Given the description of an element on the screen output the (x, y) to click on. 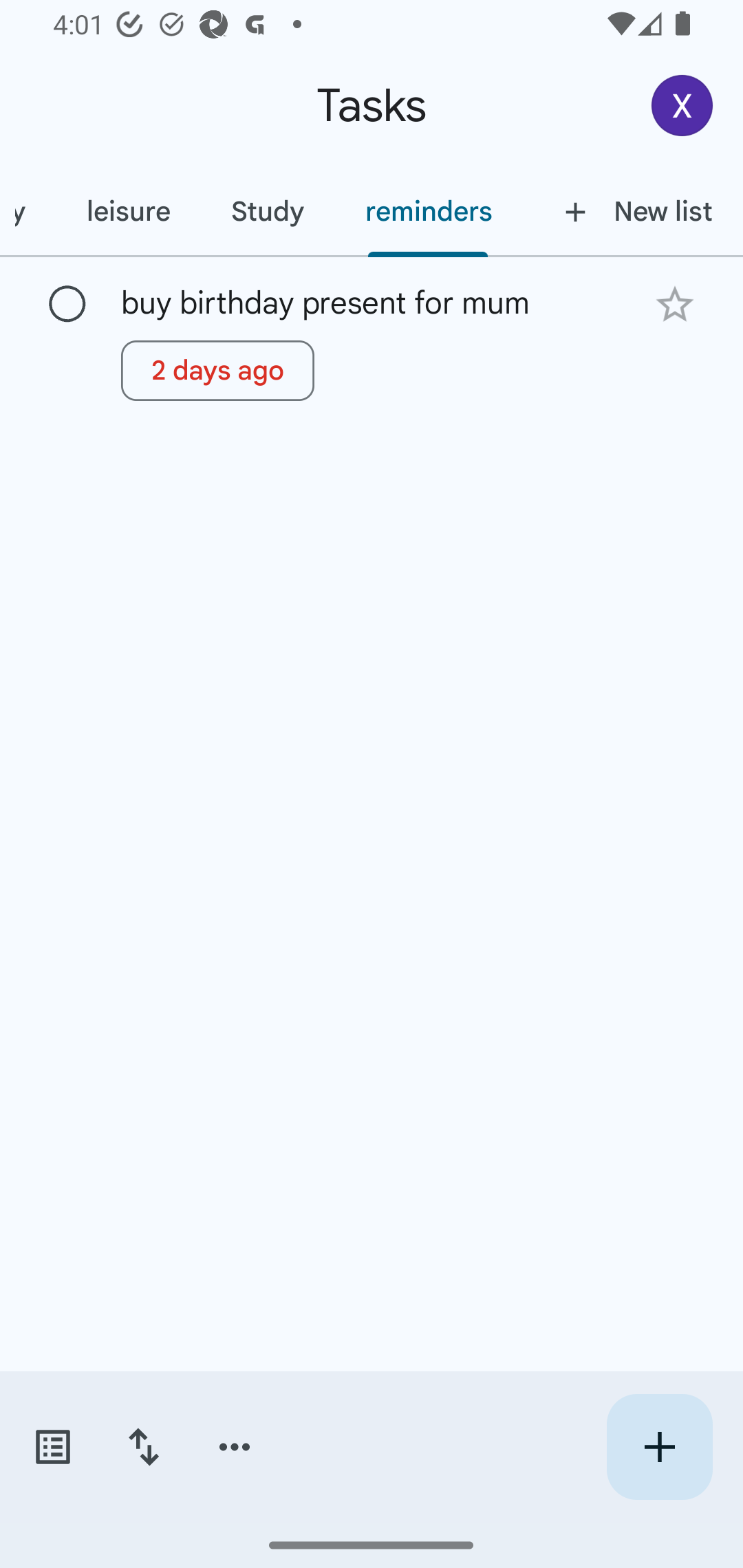
leisure (127, 211)
Study (266, 211)
New list (632, 211)
Add star (674, 303)
Mark as complete (67, 304)
2 days ago (217, 369)
Switch task lists (52, 1447)
Create new task (659, 1446)
Change sort order (143, 1446)
More options (234, 1446)
